Given the description of an element on the screen output the (x, y) to click on. 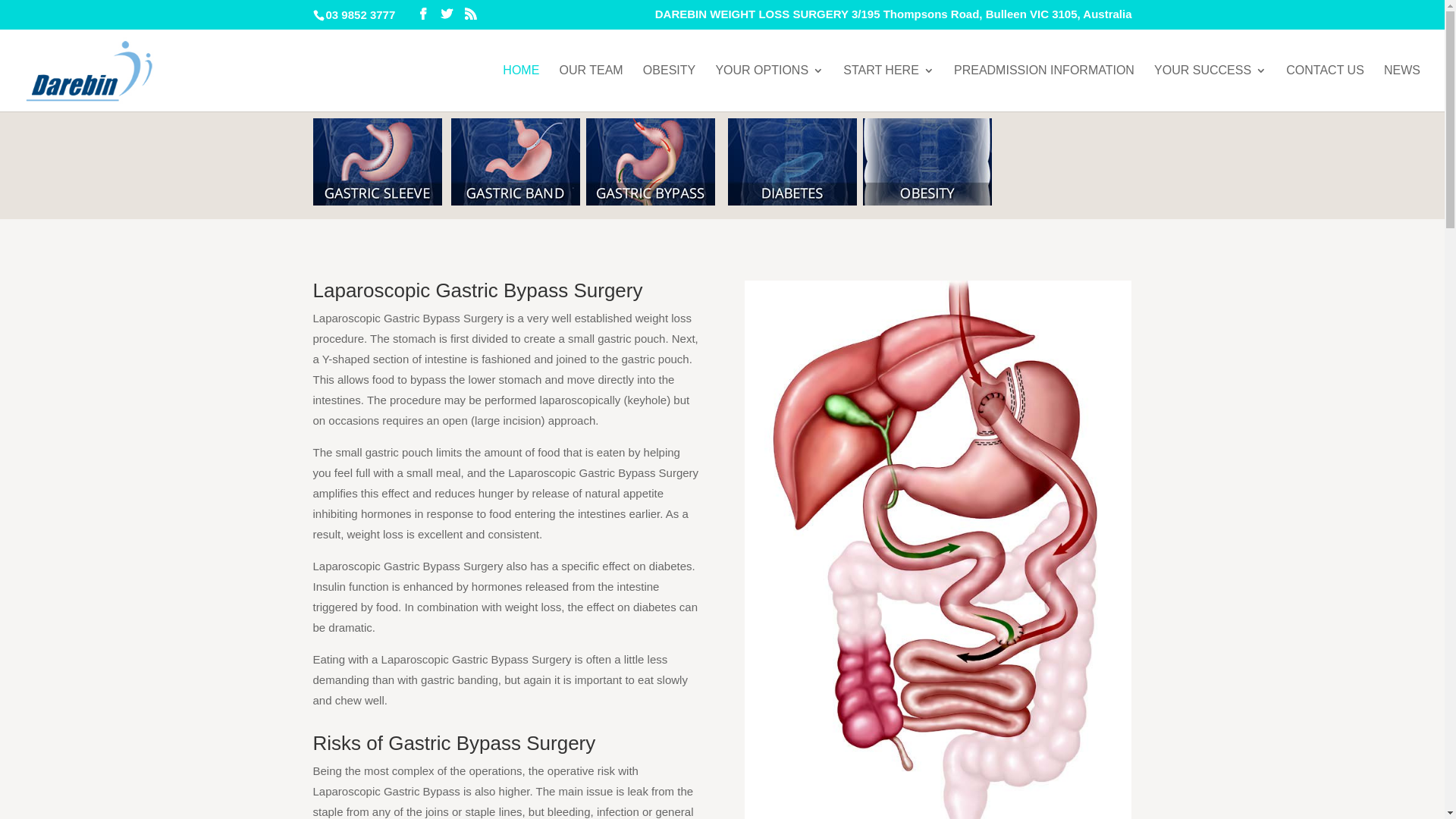
   Element type: text (718, 200)
CONTACT US Element type: text (1325, 88)
OBESITY Element type: text (669, 88)
  Element type: text (442, 200)
  Element type: text (859, 200)
HOME Element type: text (520, 88)
YOUR OPTIONS Element type: text (769, 88)
START HERE Element type: text (888, 88)
  Element type: text (724, 200)
YOUR SUCCESS Element type: text (1210, 88)
NEWS Element type: text (1401, 88)
  Element type: text (517, 200)
OUR TEAM Element type: text (591, 88)
PREADMISSION INFORMATION Element type: text (1043, 88)
